Given the description of an element on the screen output the (x, y) to click on. 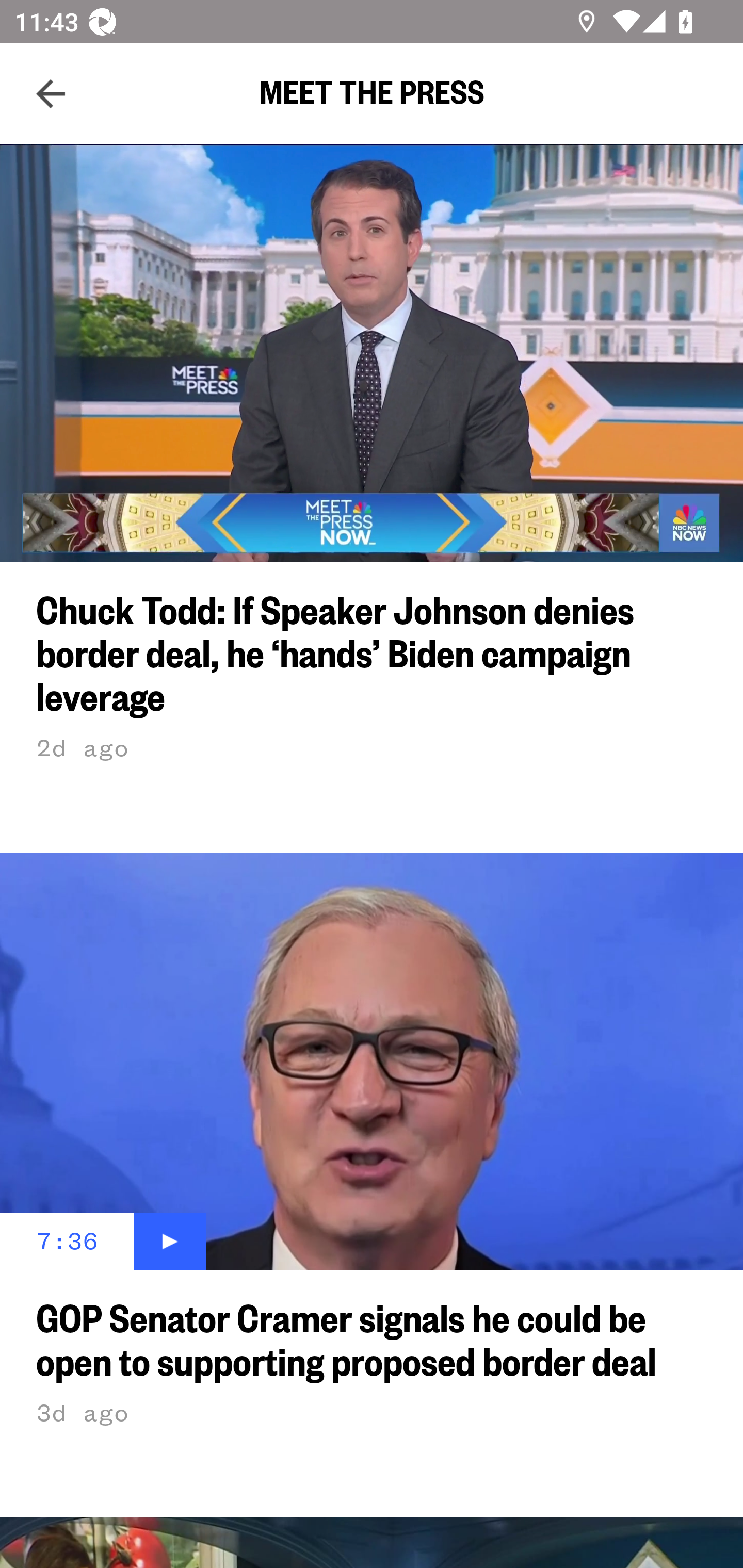
Navigate up (50, 93)
